Given the description of an element on the screen output the (x, y) to click on. 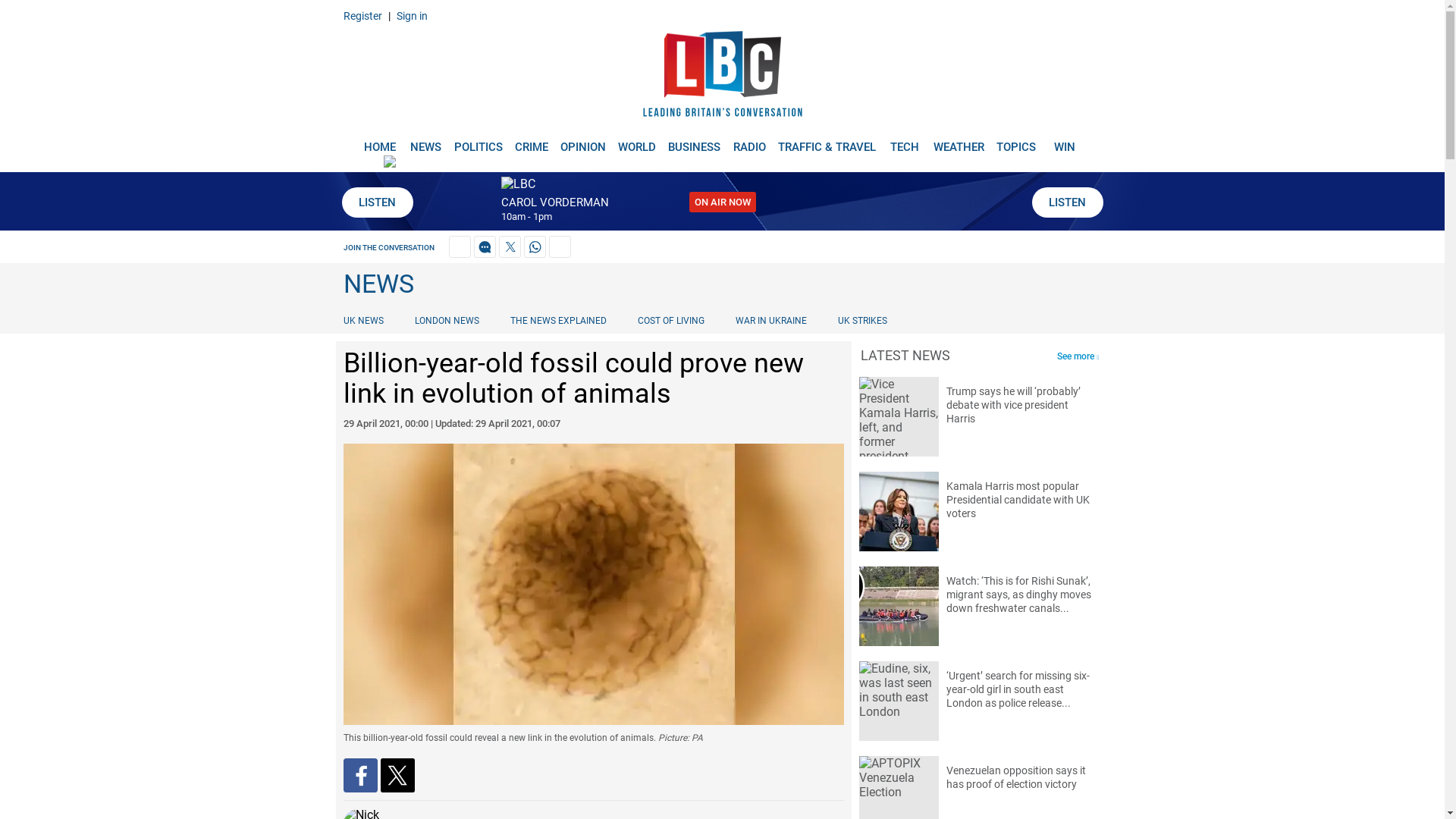
WAR IN UKRAINE (770, 320)
BUSINESS (694, 140)
HOME (379, 140)
OPINION (582, 140)
WEATHER (958, 140)
LBC (722, 77)
Sign in (411, 15)
UK STRIKES (862, 320)
LISTEN (1066, 202)
UK NEWS (365, 320)
POLITICS (478, 140)
TECH (904, 140)
COST OF LIVING (670, 320)
NEWS (425, 140)
TOPICS (1016, 140)
